Given the description of an element on the screen output the (x, y) to click on. 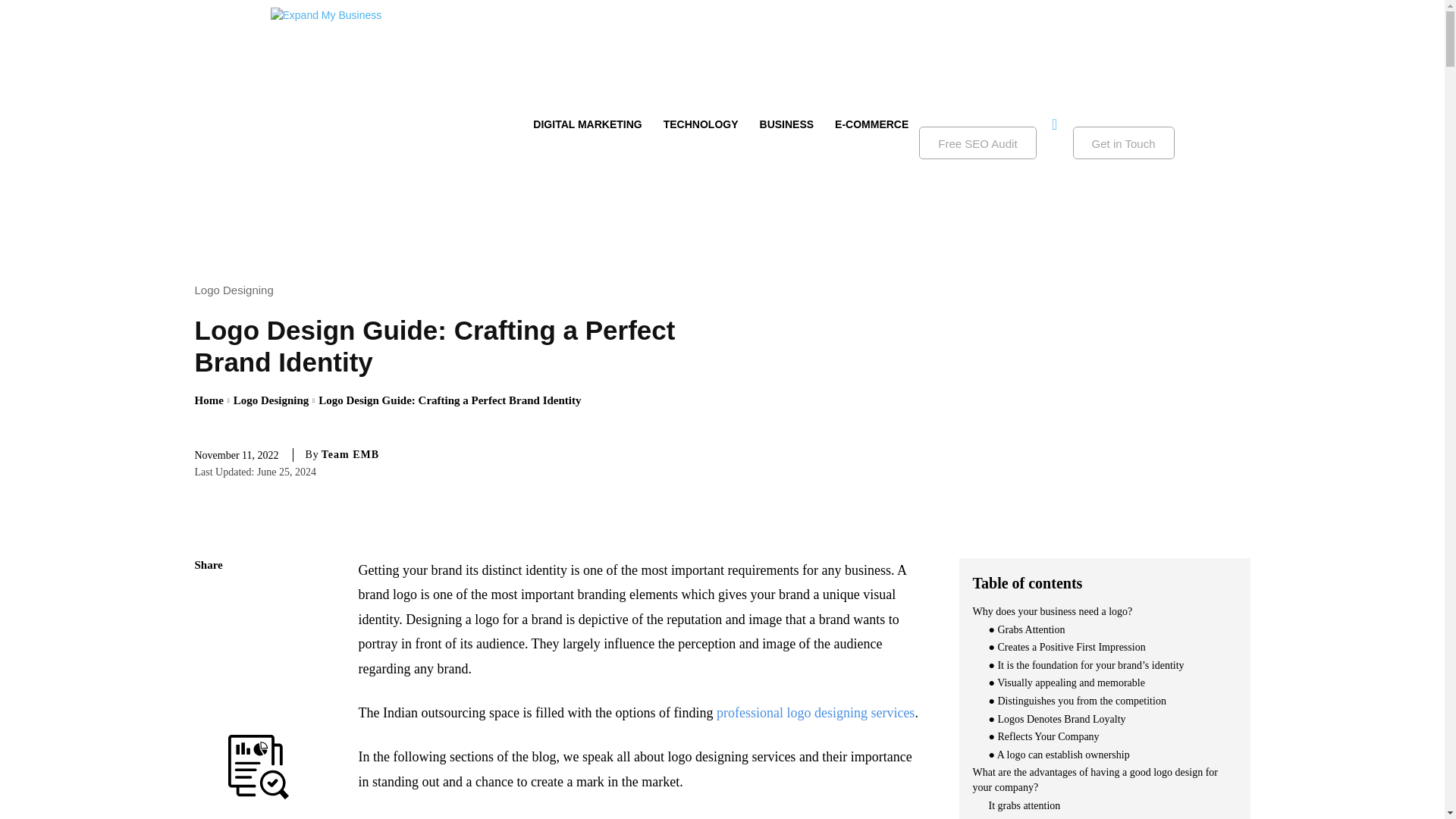
Home (207, 399)
Free SEO Audit (977, 142)
View all posts in Logo Designing (270, 399)
BUSINESS (787, 124)
Team EMB (349, 454)
DIGITAL MARKETING (587, 124)
Get in Touch (1123, 142)
TECHNOLOGY (700, 124)
Logo Designing (270, 399)
Free SEO Audit (977, 142)
Logo Designing (237, 289)
E-COMMERCE (871, 124)
Get in Touch (1123, 142)
professional logo (763, 712)
